Given the description of an element on the screen output the (x, y) to click on. 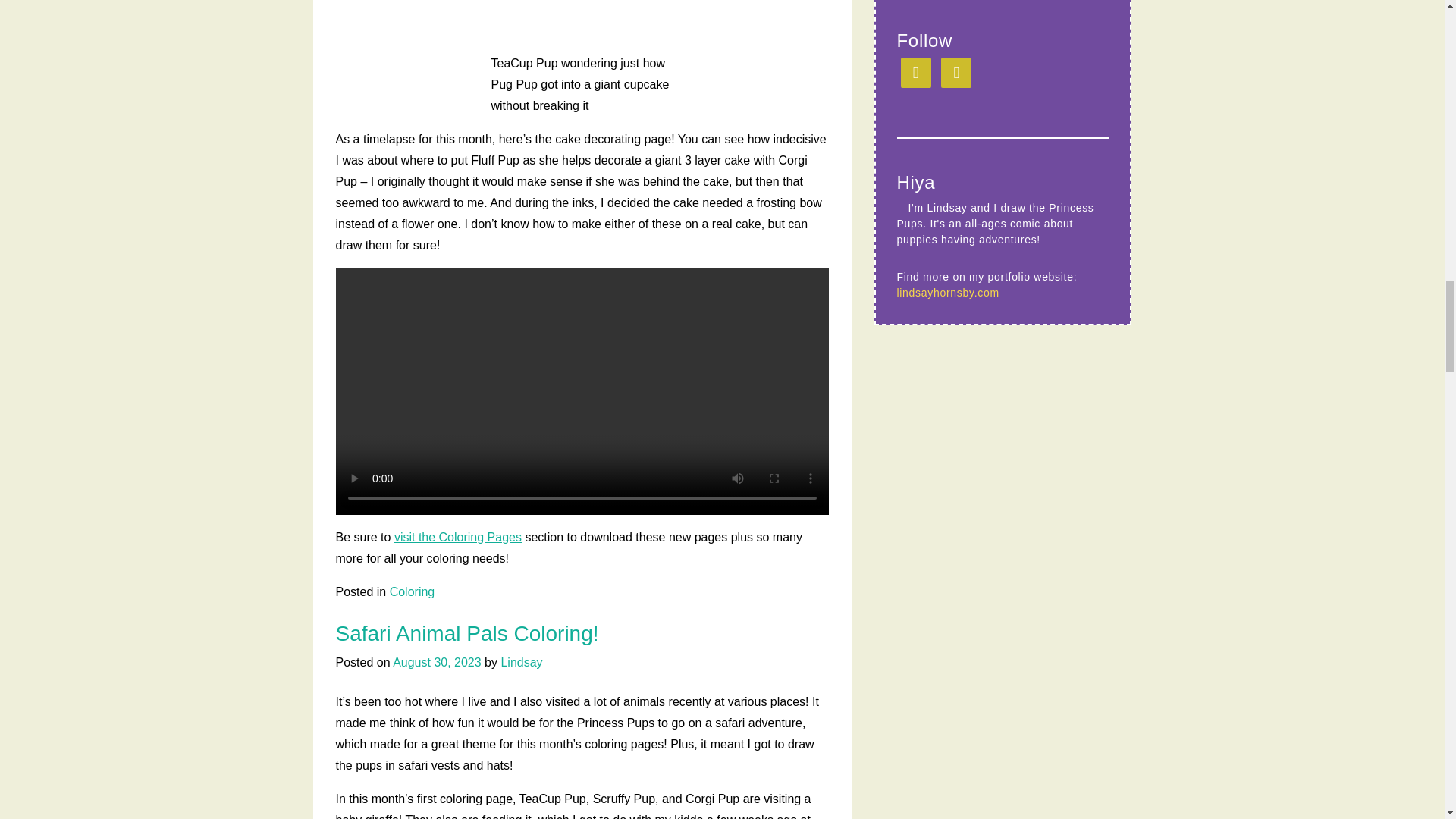
Lindsay (520, 662)
Safari Animal Pals Coloring! (466, 633)
RSS (955, 72)
August 30, 2023 (437, 662)
visit the Coloring Pages (457, 536)
Coloring (412, 591)
Instagram (916, 72)
